Given the description of an element on the screen output the (x, y) to click on. 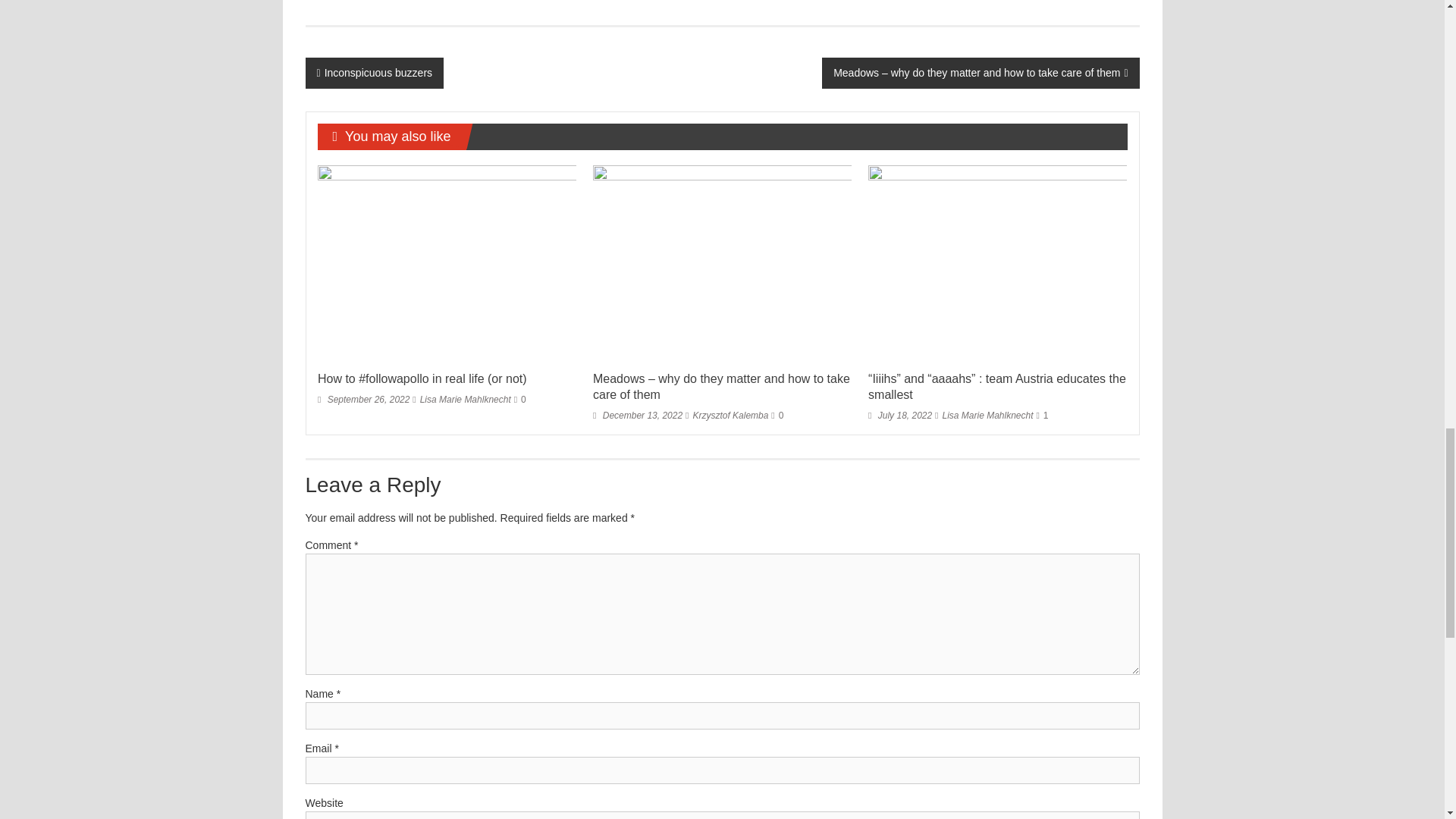
16:08 (363, 398)
Lisa Marie Mahlknecht (465, 398)
